Given the description of an element on the screen output the (x, y) to click on. 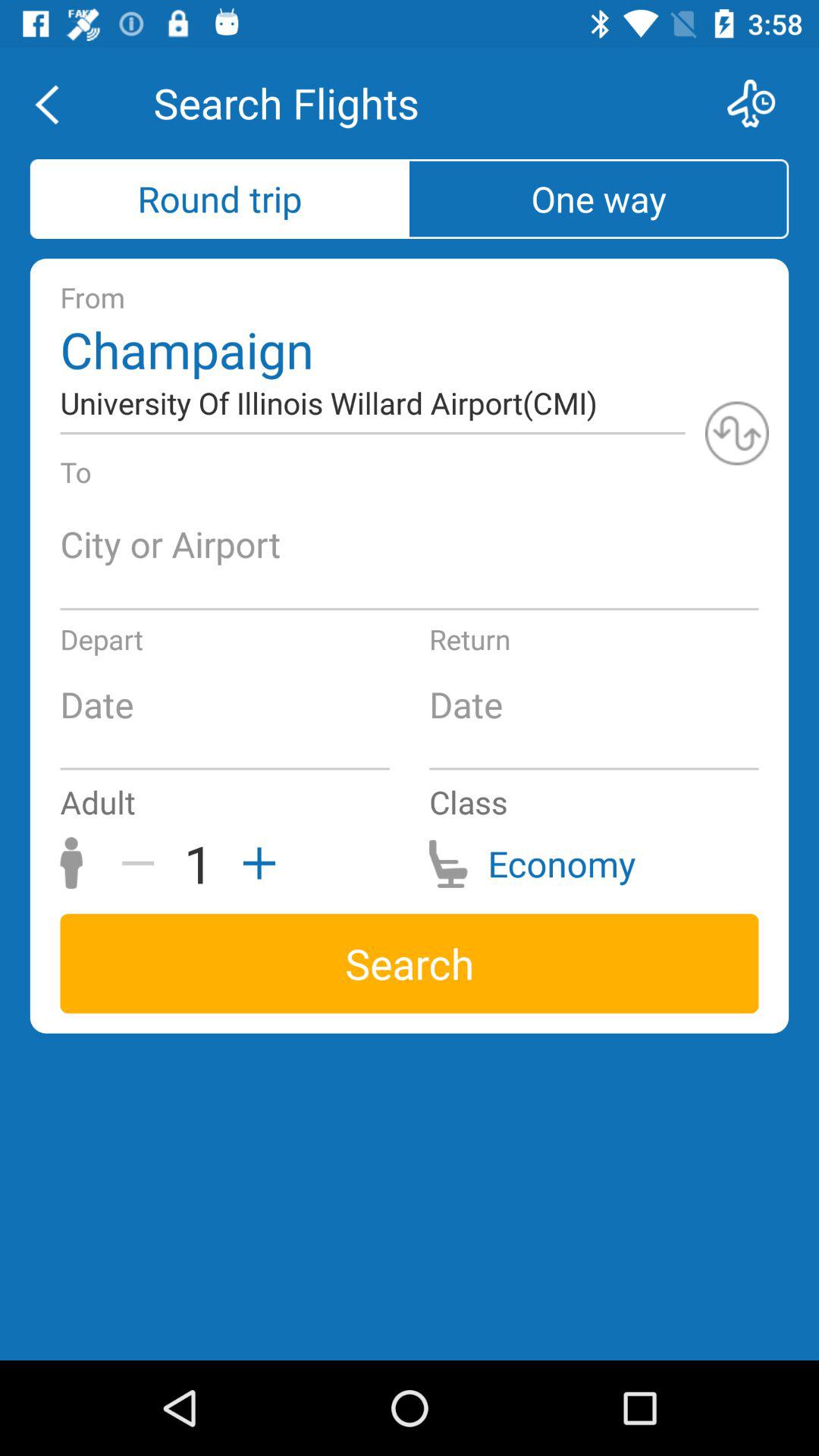
switch entry 's (736, 433)
